Given the description of an element on the screen output the (x, y) to click on. 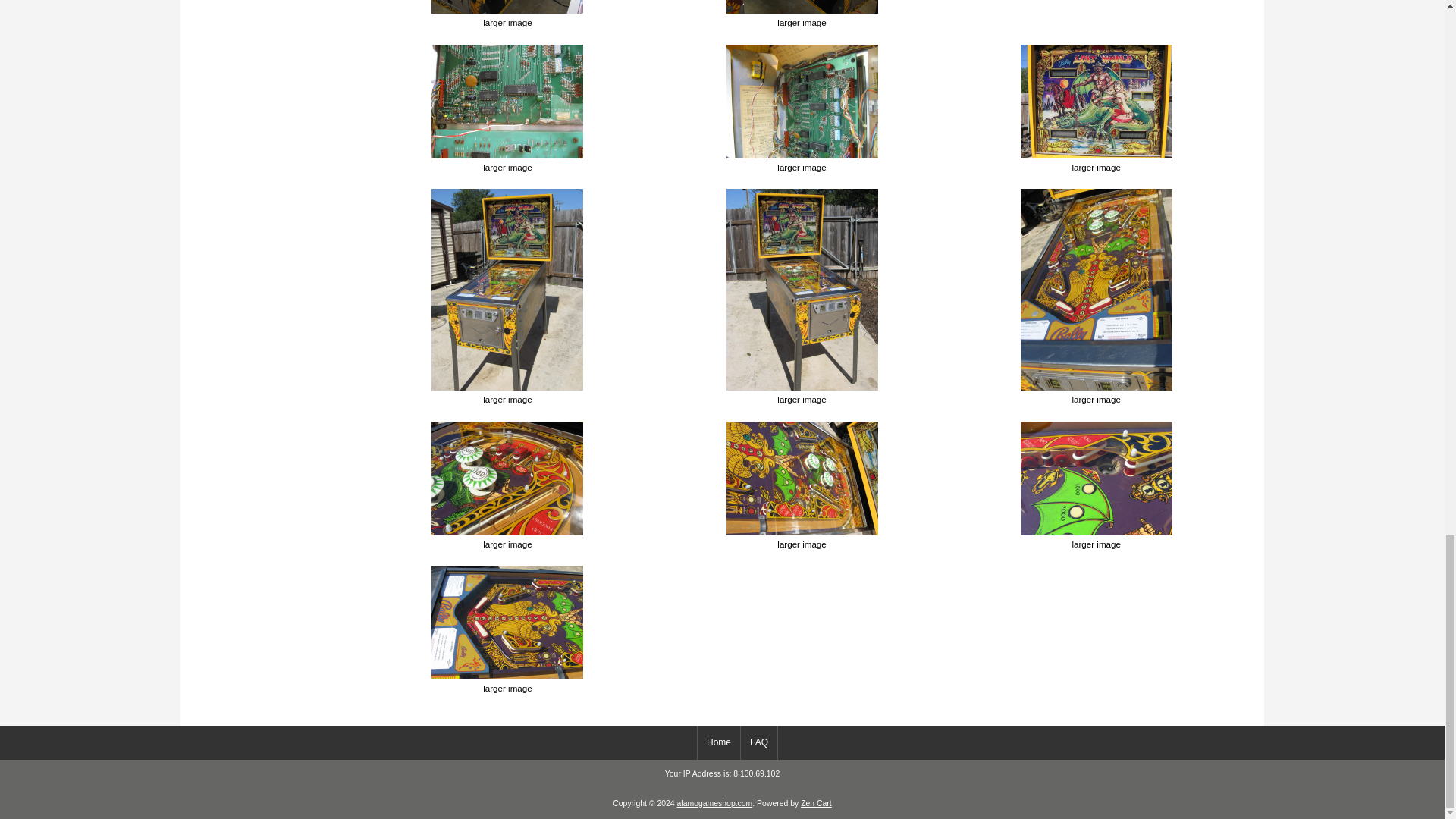
Lost World Pinball by Bally 1978 (506, 101)
Lost World Pinball by Bally 1978 (506, 6)
Lost World Pinball by Bally 1978 (801, 6)
